Given the description of an element on the screen output the (x, y) to click on. 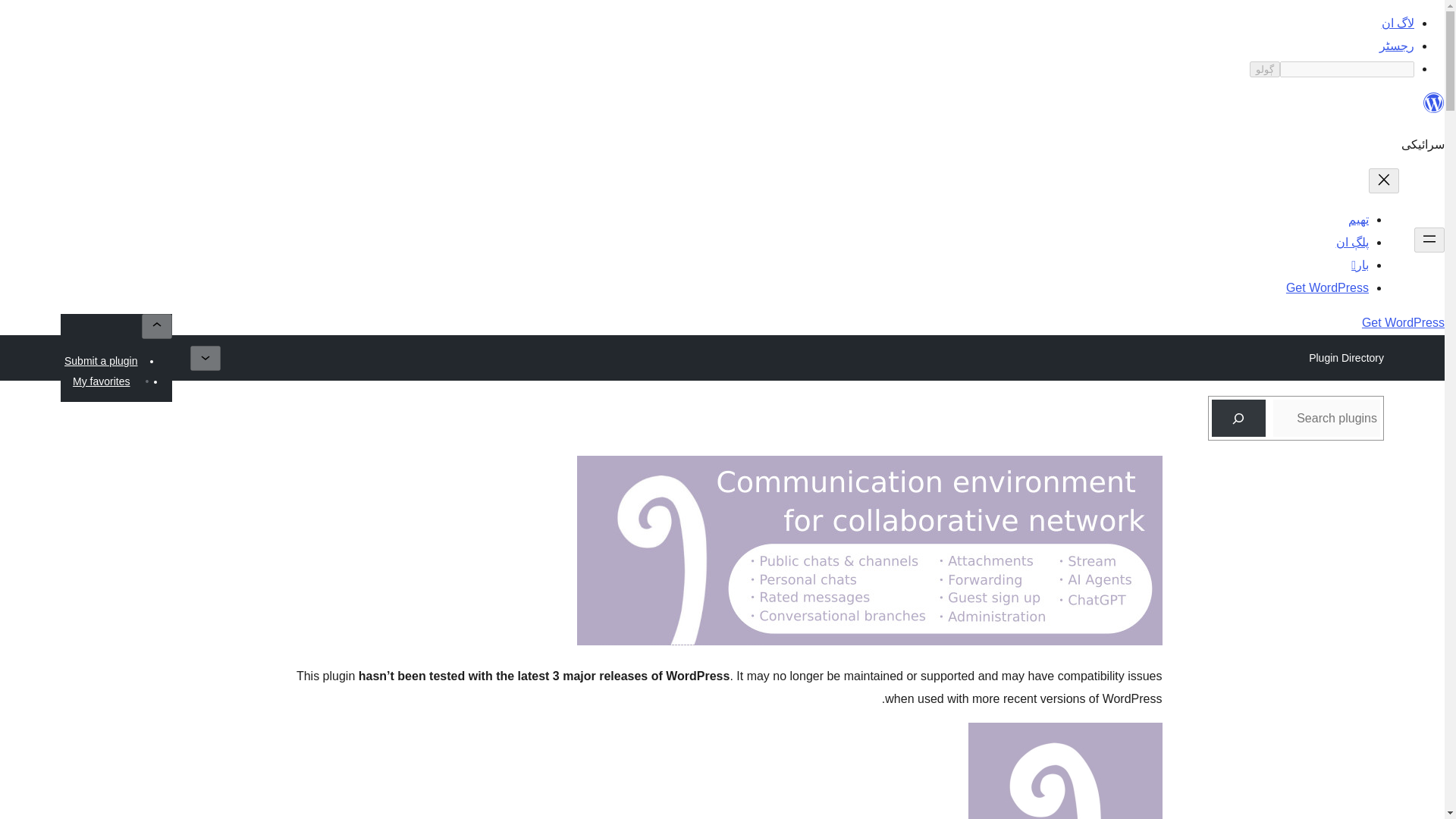
My favorites (100, 381)
Plugin Directory (1345, 357)
Submit a plugin (101, 361)
Get WordPress (1326, 287)
